Given the description of an element on the screen output the (x, y) to click on. 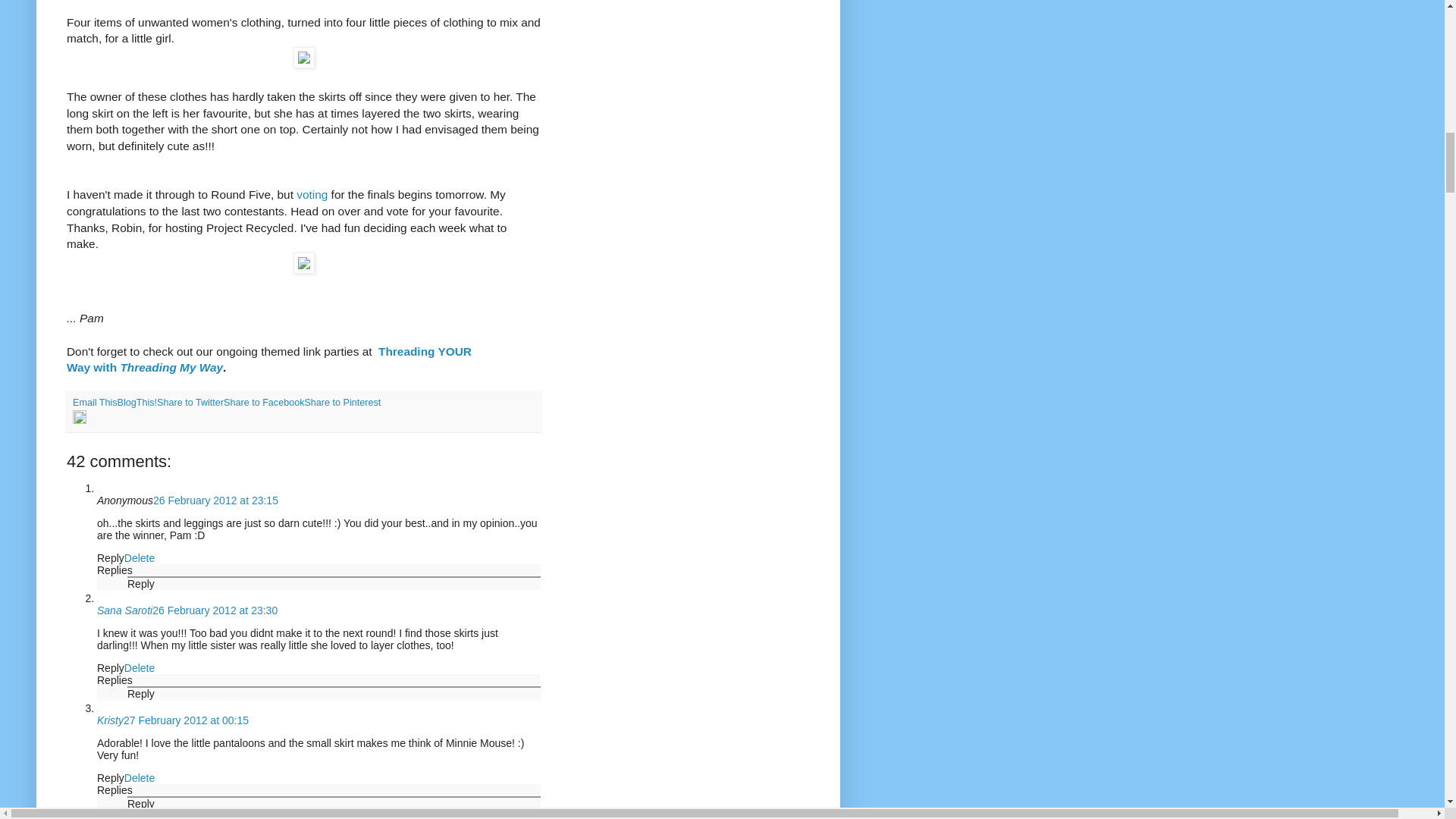
Email This (94, 402)
Edit Post (78, 420)
Share to Facebook (264, 402)
Share to Twitter (190, 402)
BlogThis! (137, 402)
Share to Pinterest (342, 402)
voting (312, 194)
Threading YOUR Way with Threading My Way (268, 359)
